Given the description of an element on the screen output the (x, y) to click on. 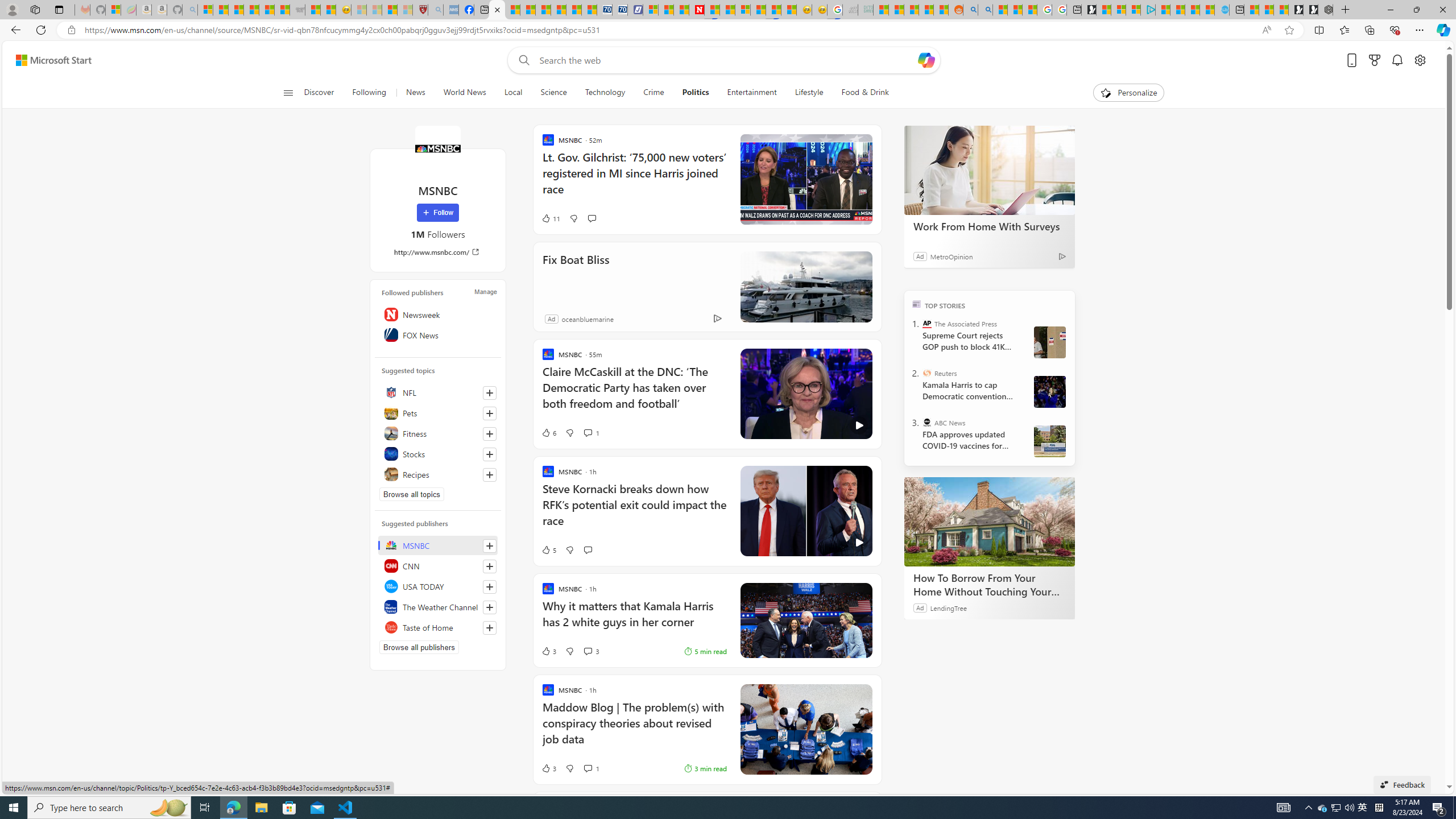
Science - MSN (389, 9)
The Associated Press (927, 323)
DITOGAMES AG Imprint - Sleeping (865, 9)
View comments 3 Comment (587, 651)
Politics (694, 92)
Crime (653, 92)
